Given the description of an element on the screen output the (x, y) to click on. 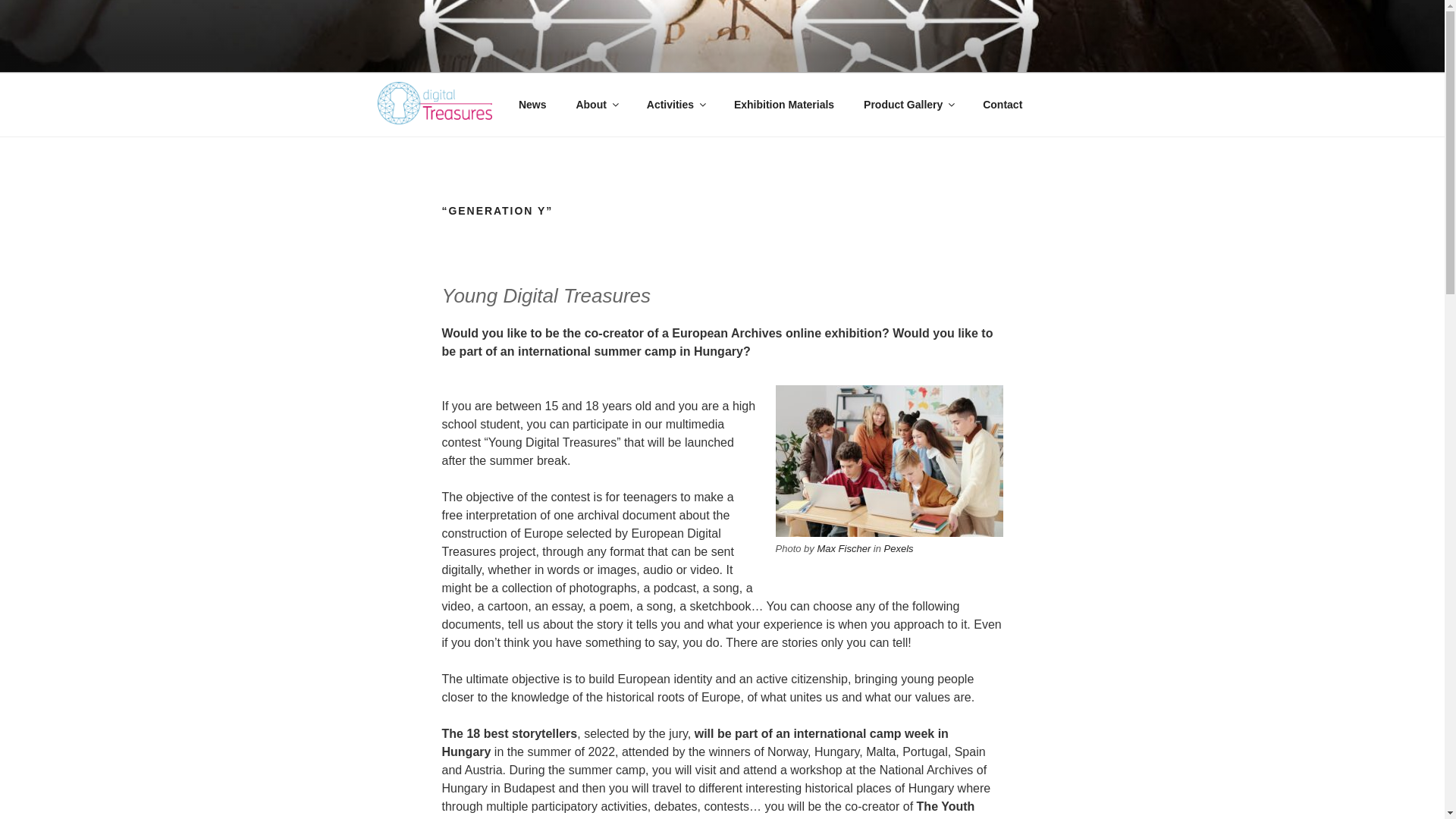
About (596, 104)
Fischer (854, 548)
Contact (1002, 104)
Product Gallery (908, 104)
Exhibition Materials (783, 104)
News (532, 104)
DIGITAL TREASURES (538, 52)
Activities (675, 104)
Pexels (898, 548)
Max (827, 548)
